Given the description of an element on the screen output the (x, y) to click on. 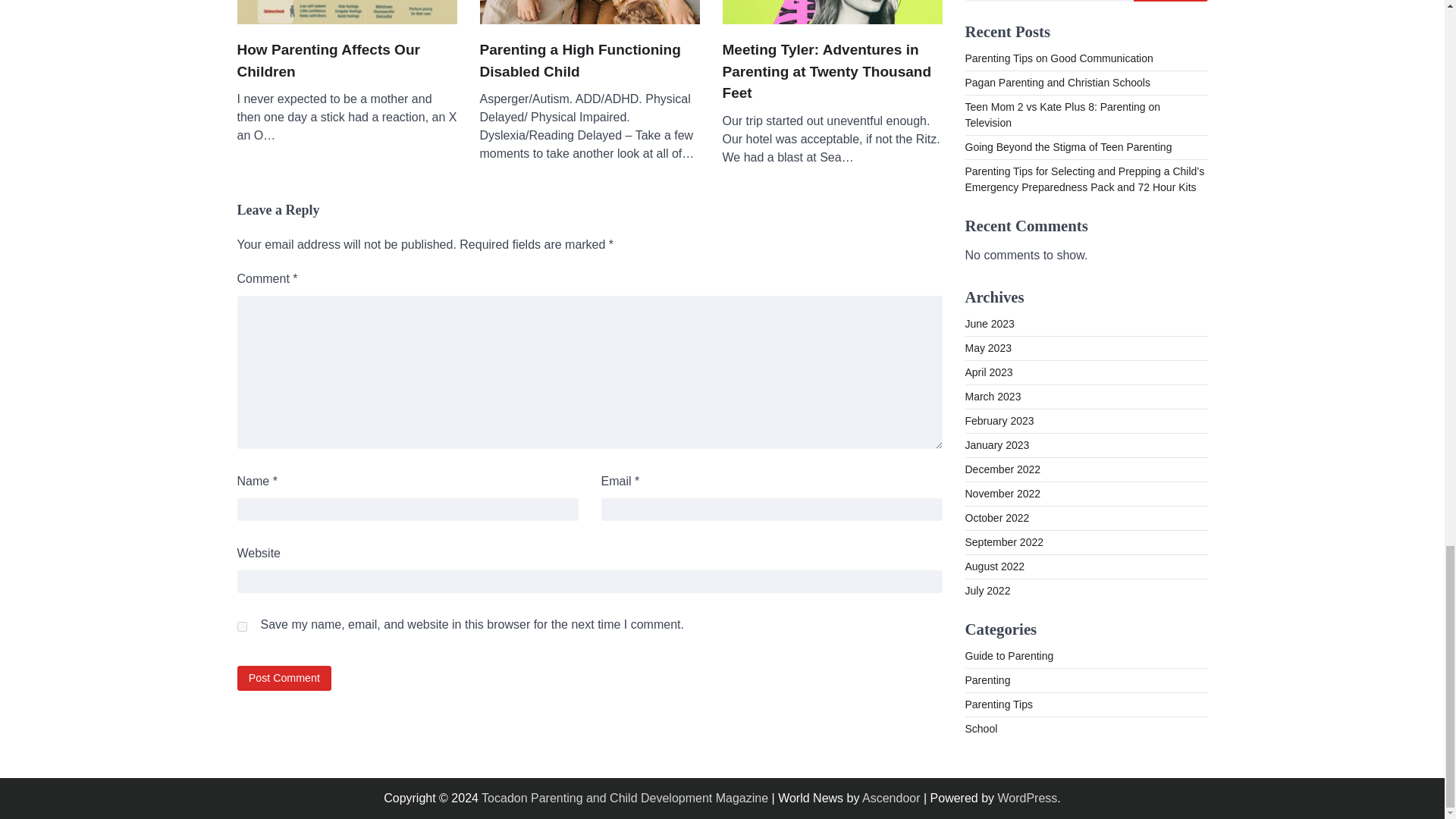
How Parenting Affects Our Children (346, 60)
Post Comment (283, 678)
yes (240, 626)
Parenting a High Functioning Disabled Child (588, 60)
Post Comment (283, 678)
